Given the description of an element on the screen output the (x, y) to click on. 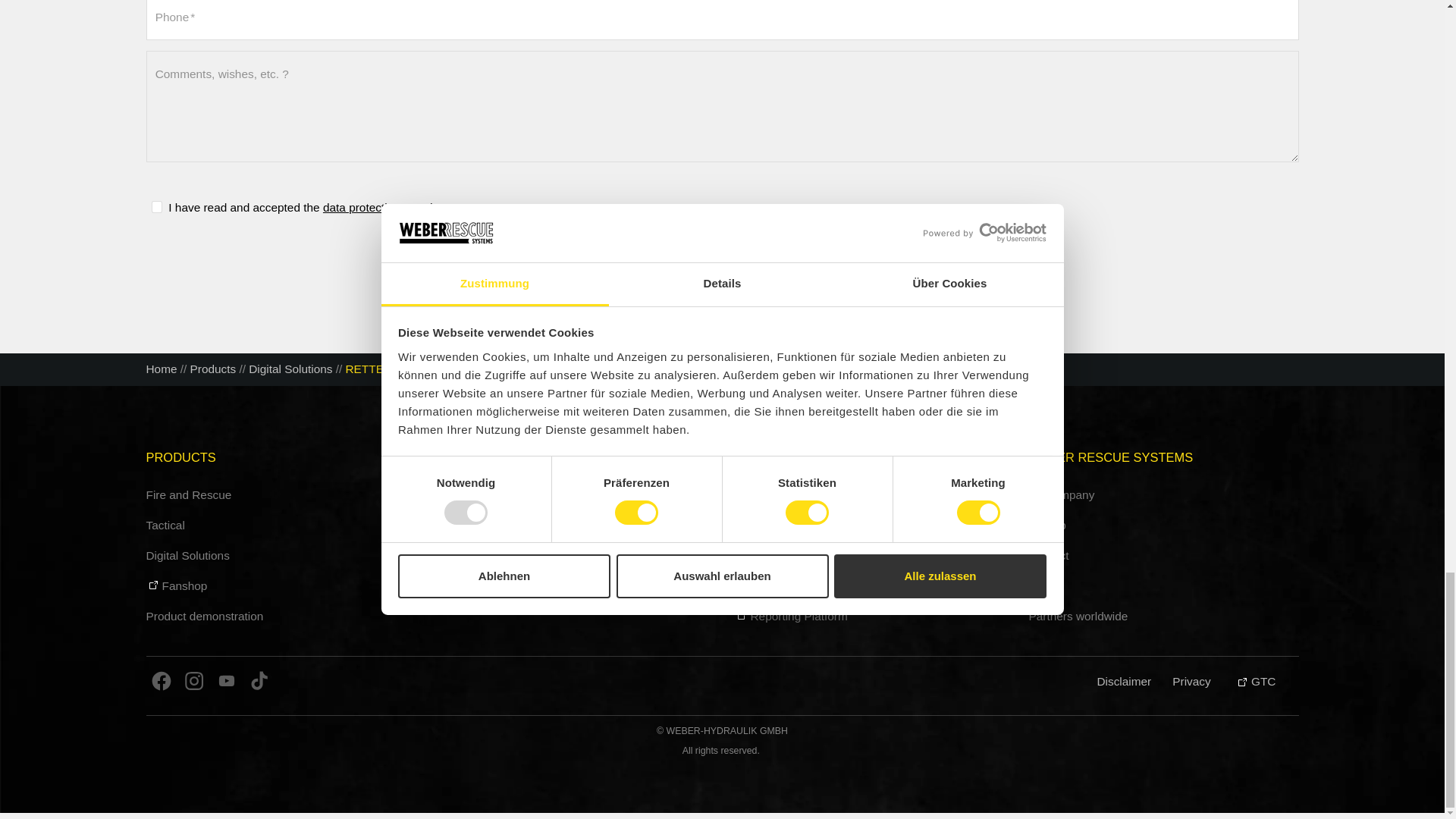
Data protection accepted: Yes (156, 206)
